Given the description of an element on the screen output the (x, y) to click on. 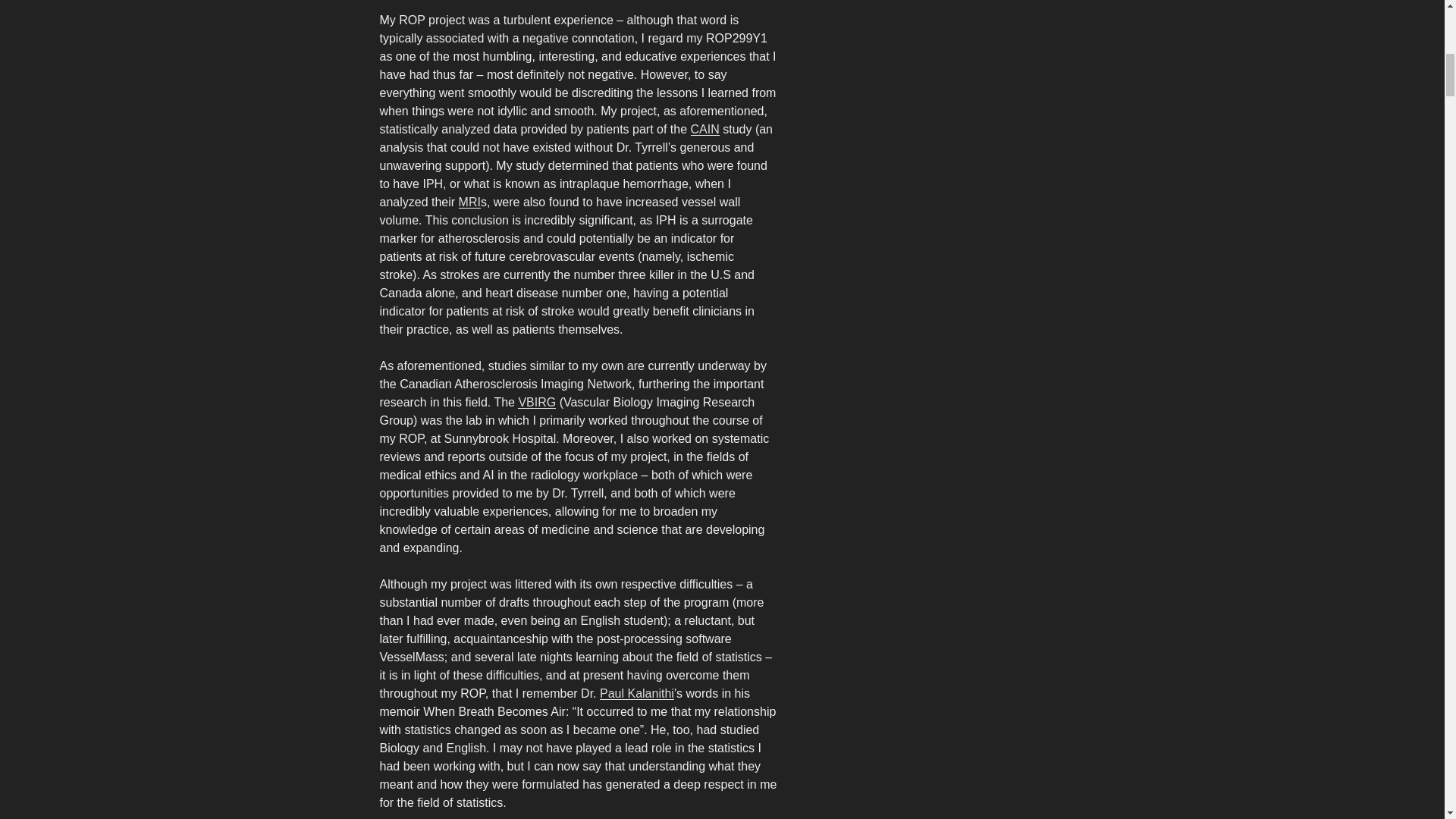
VBIRG (537, 401)
MRI (469, 201)
CAIN (704, 128)
Paul Kalanithi (636, 693)
